Given the description of an element on the screen output the (x, y) to click on. 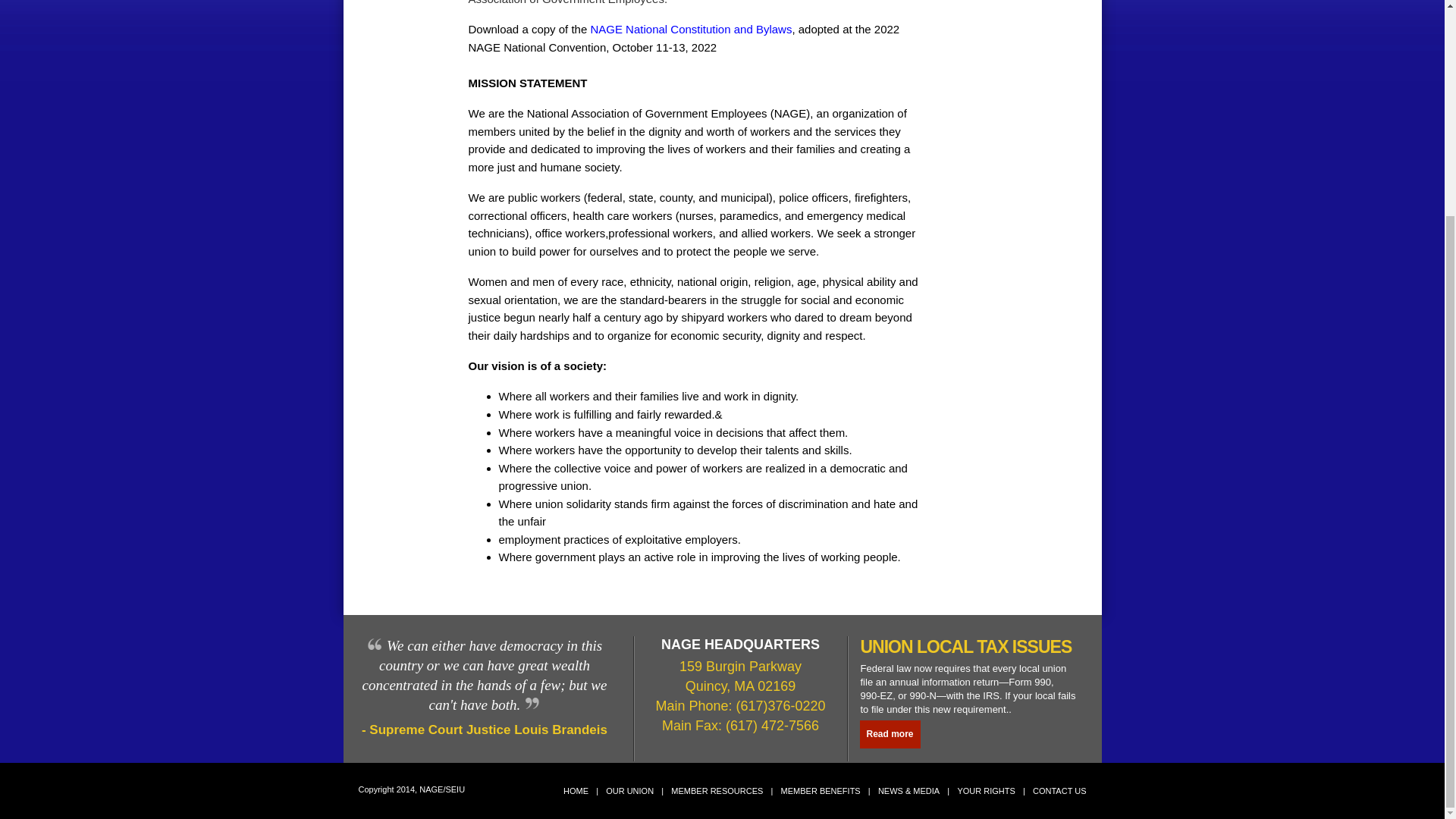
HOME (575, 790)
YOUR RIGHTS (985, 790)
MEMBER BENEFITS (820, 790)
OUR UNION (630, 790)
Read more (890, 734)
NAGE National Constitution and Bylaws (690, 29)
MEMBER RESOURCES (716, 790)
CONTACT US (1059, 790)
